Given the description of an element on the screen output the (x, y) to click on. 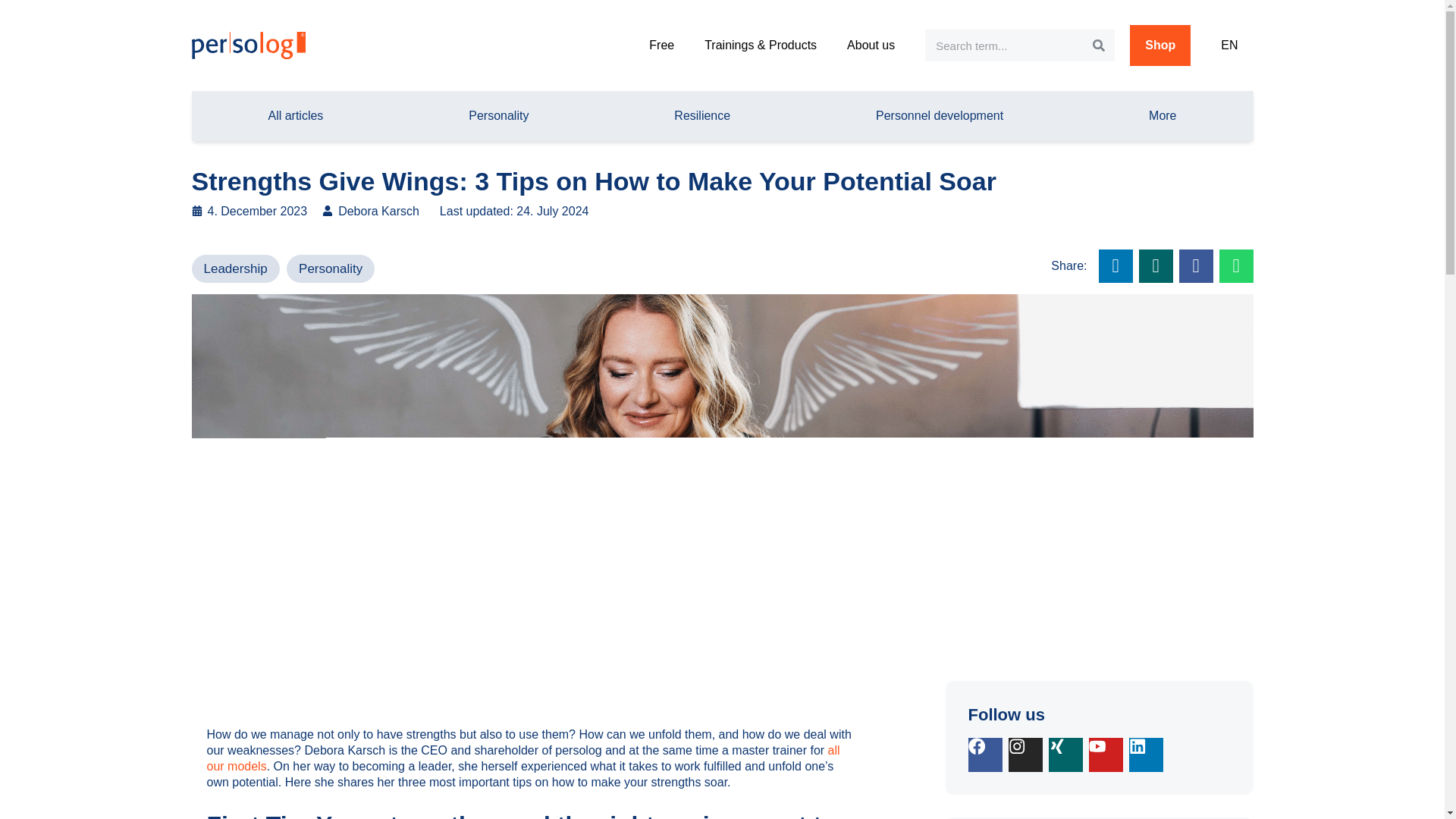
Free (660, 45)
About us (870, 45)
persolog-logo-refreshed (247, 44)
